Given the description of an element on the screen output the (x, y) to click on. 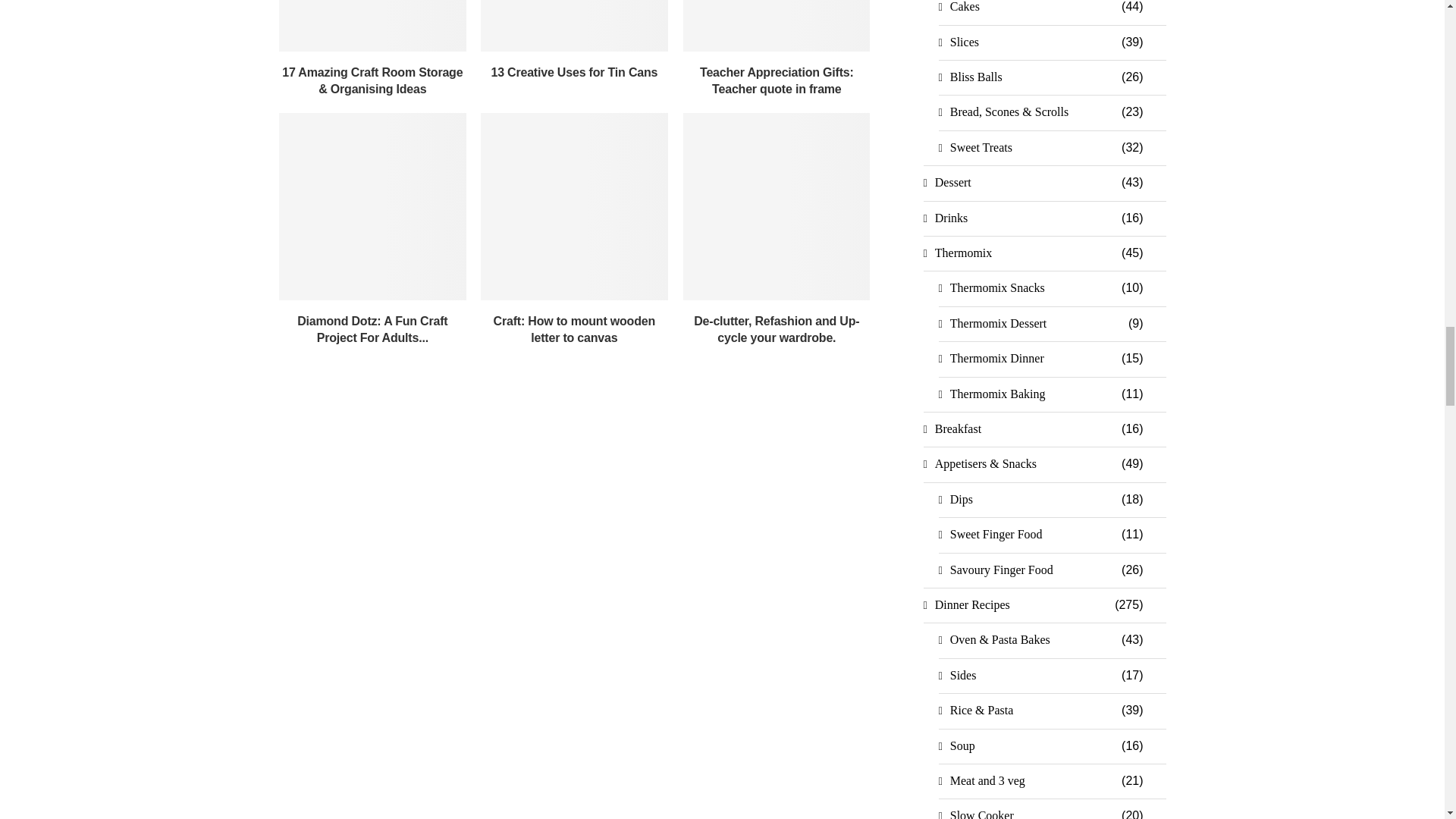
13 Creative Uses for Tin Cans (574, 25)
